Given the description of an element on the screen output the (x, y) to click on. 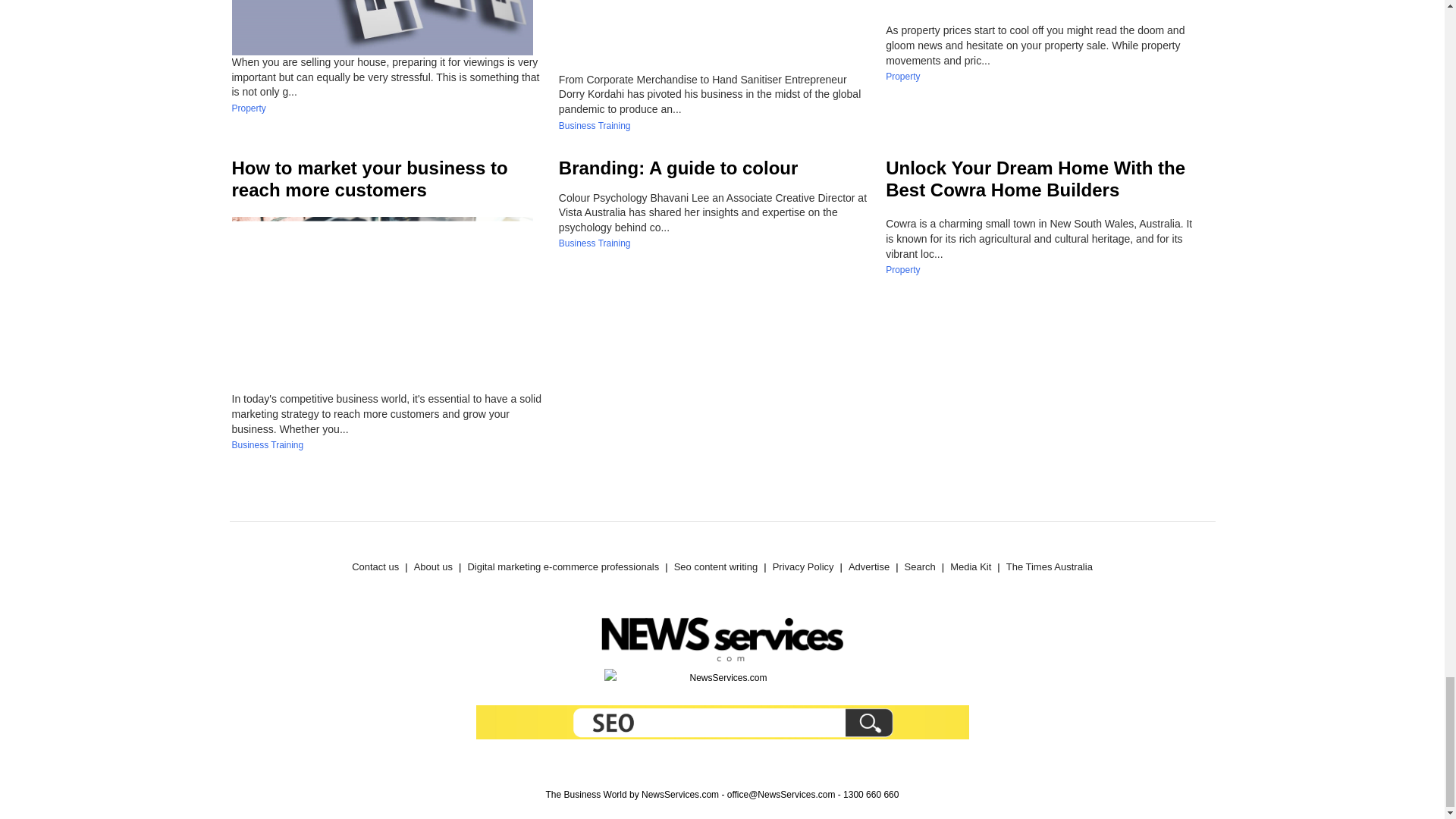
How to market your business to reach more customers (369, 178)
Unlock Your Dream Home With the Best Cowra Home Builders (1035, 178)
Branding: A guide to colour (678, 168)
